Given the description of an element on the screen output the (x, y) to click on. 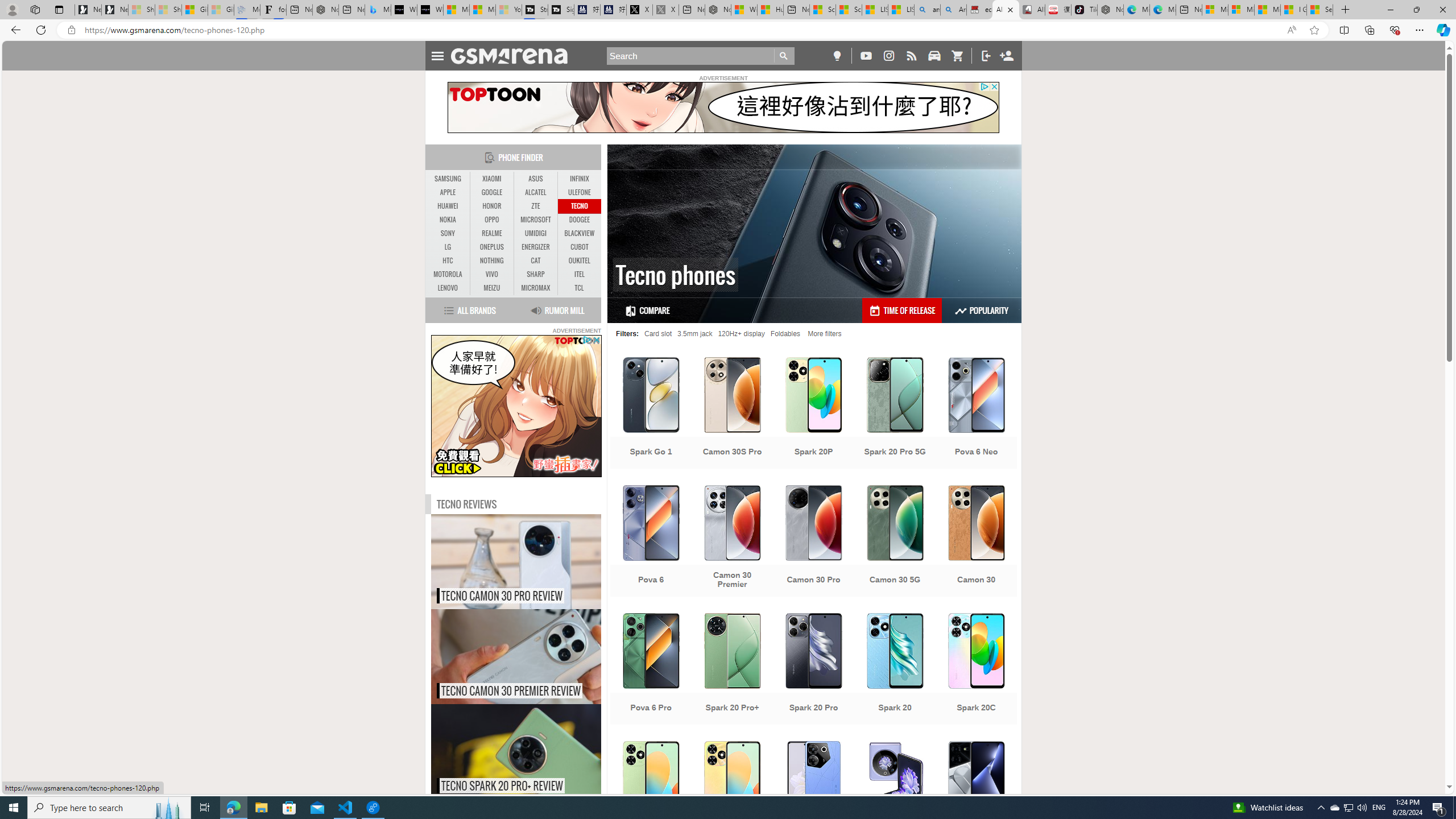
HONOR (491, 206)
Camon 30S Pro (732, 413)
HUAWEI (448, 206)
What's the best AI voice generator? - voice.ai (430, 9)
GOOGLE (491, 192)
Tecno Camon 30 Pro review TECNO CAMON 30 PRO REVIEW (515, 561)
All Cubot phones (1031, 9)
ITEL (579, 273)
HONOR (491, 205)
OPPO (491, 219)
I Gained 20 Pounds of Muscle in 30 Days! | Watch (1293, 9)
